Given the description of an element on the screen output the (x, y) to click on. 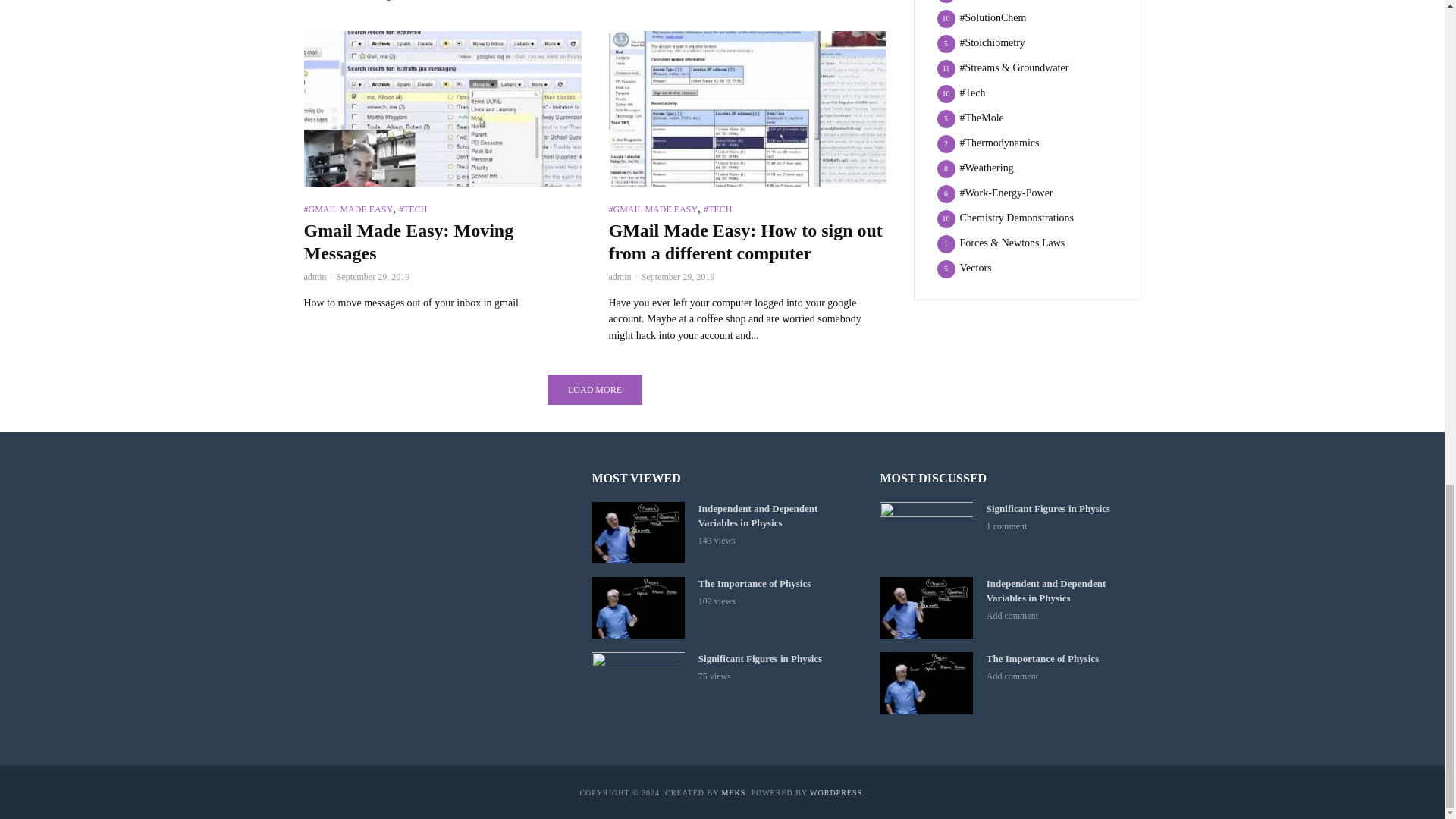
Significant Figures in Physics (925, 532)
Gmail Made Easy: Moving Messages (441, 108)
Significant Figures in Physics (637, 682)
GMail Made Easy: How to sign out from a different computer (746, 108)
Independent and Dependent Variables in Physics (925, 607)
The Importance of Physics (925, 682)
The Importance of Physics (637, 607)
Independent and Dependent Variables in Physics (637, 532)
